Given the description of an element on the screen output the (x, y) to click on. 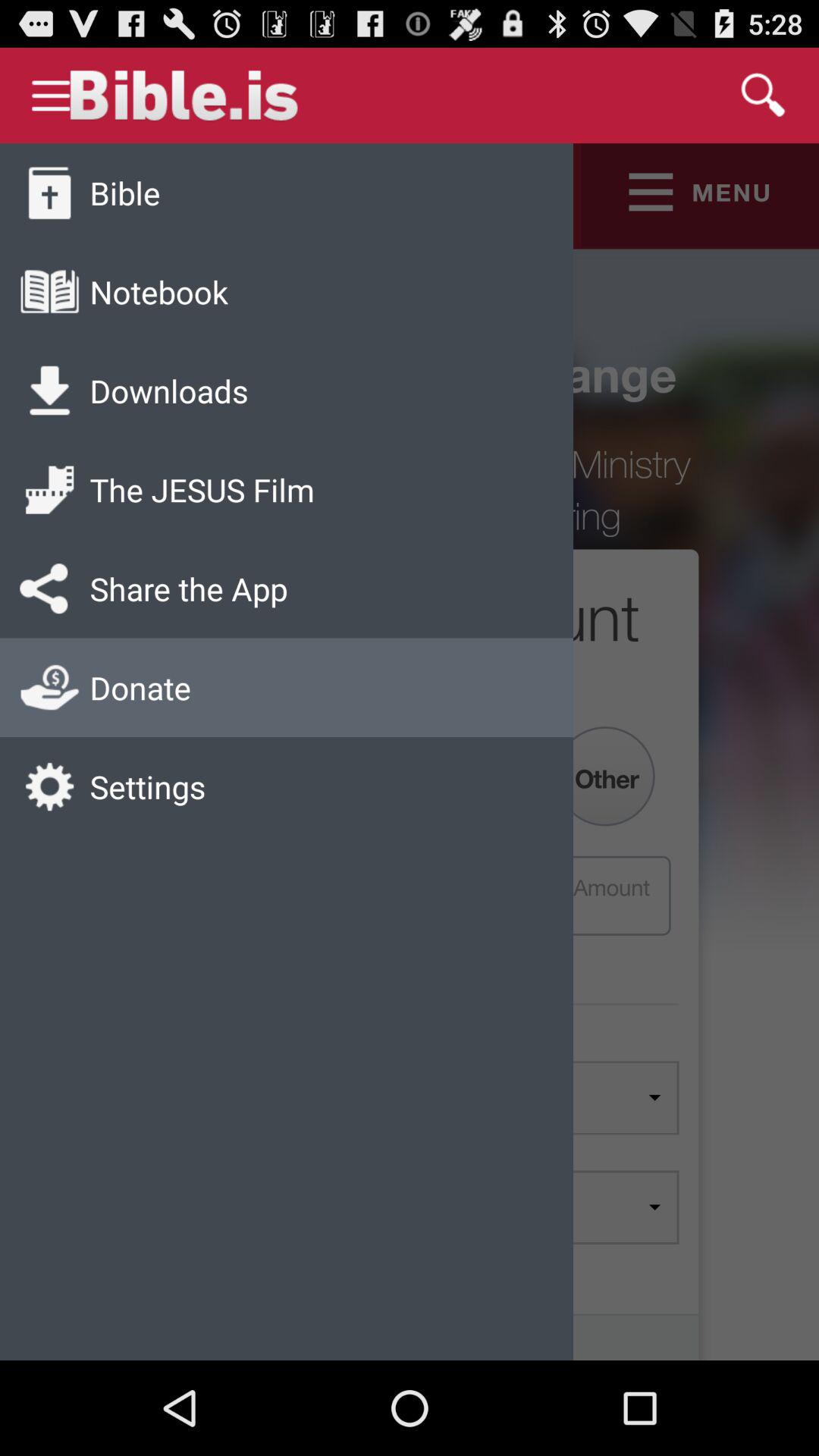
turn on app below the jesus film item (188, 588)
